Given the description of an element on the screen output the (x, y) to click on. 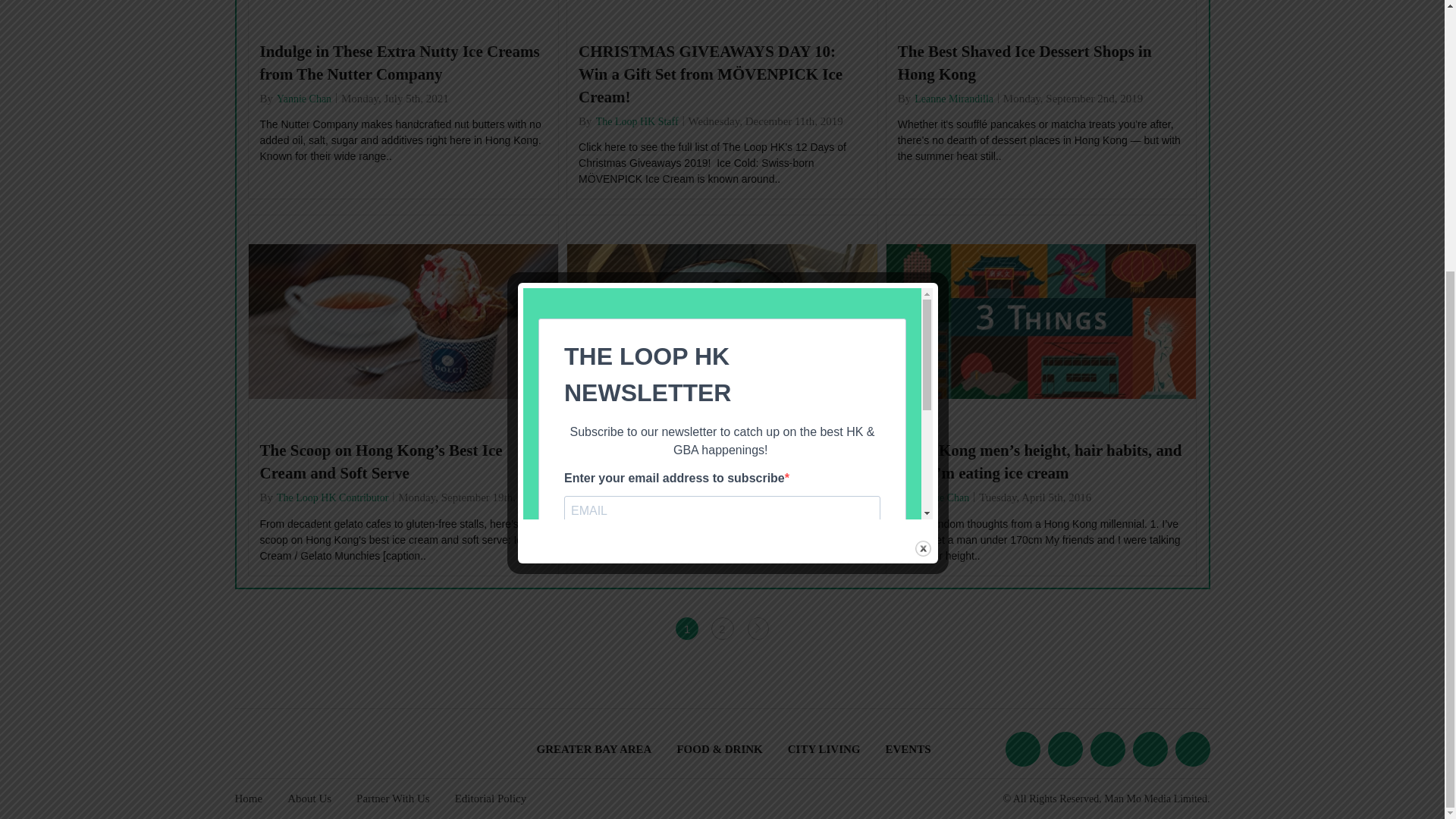
The Loop HK Staff (637, 120)
The Best Shaved Ice Dessert Shops in Hong Kong (1041, 62)
CITY LIVING (823, 748)
The Ultimate Hong Kong Matcha Dessert Bucket List (722, 461)
Yannie Chan (303, 97)
GREATER BAY AREA (592, 748)
2 (722, 628)
Yannie Chan (941, 497)
The Loop HK Contributor (332, 497)
Close (923, 150)
EVENTS (908, 748)
Leanne Mirandilla (954, 97)
Karen Chiang (625, 497)
Next (756, 628)
